Given the description of an element on the screen output the (x, y) to click on. 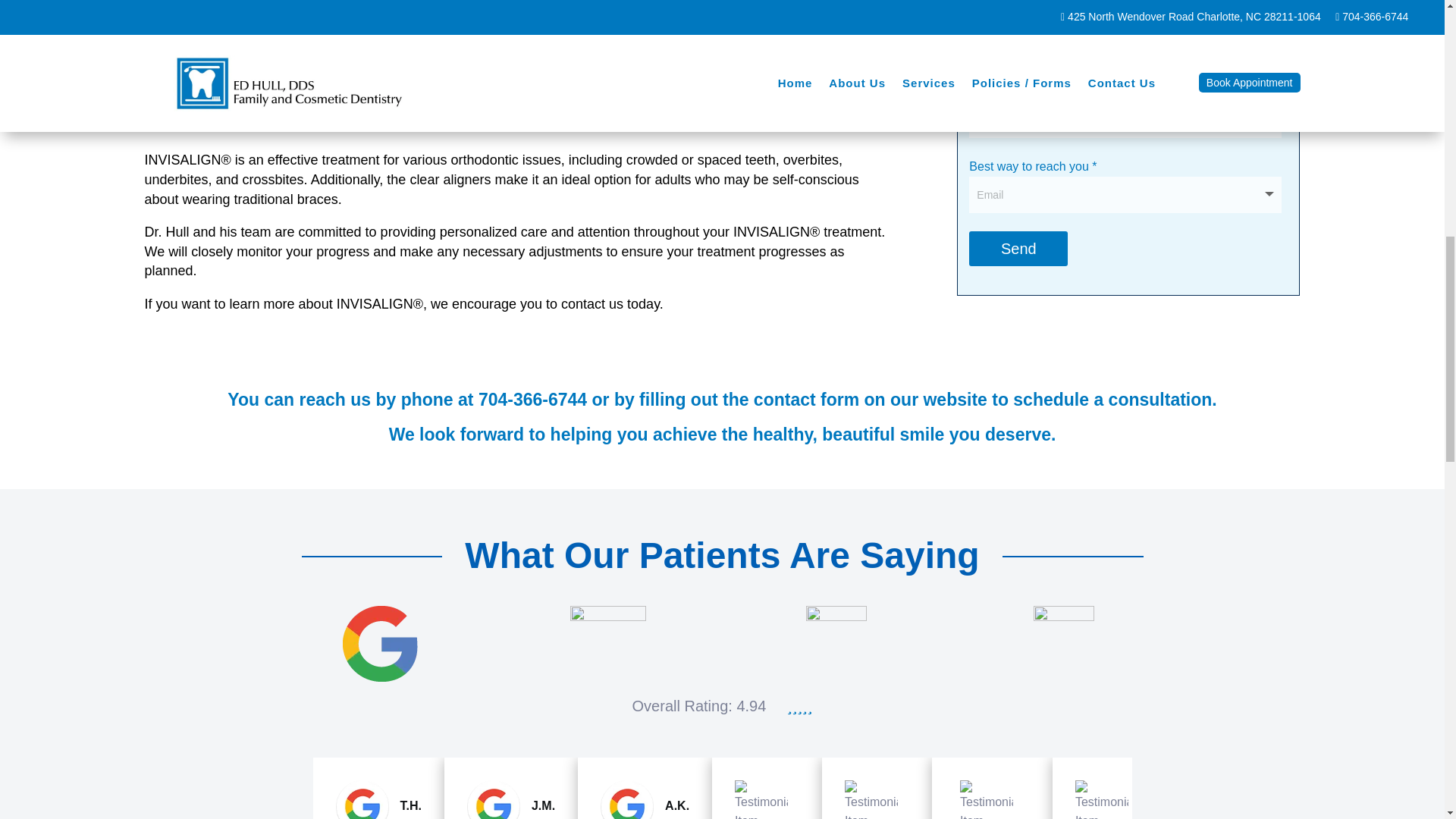
google (379, 643)
Send (1018, 248)
webmd (1063, 636)
vitals (836, 636)
704-366-6744 (532, 399)
Hull-Dentistry-Charlotte-NC-Invisalign (519, 59)
